Given the description of an element on the screen output the (x, y) to click on. 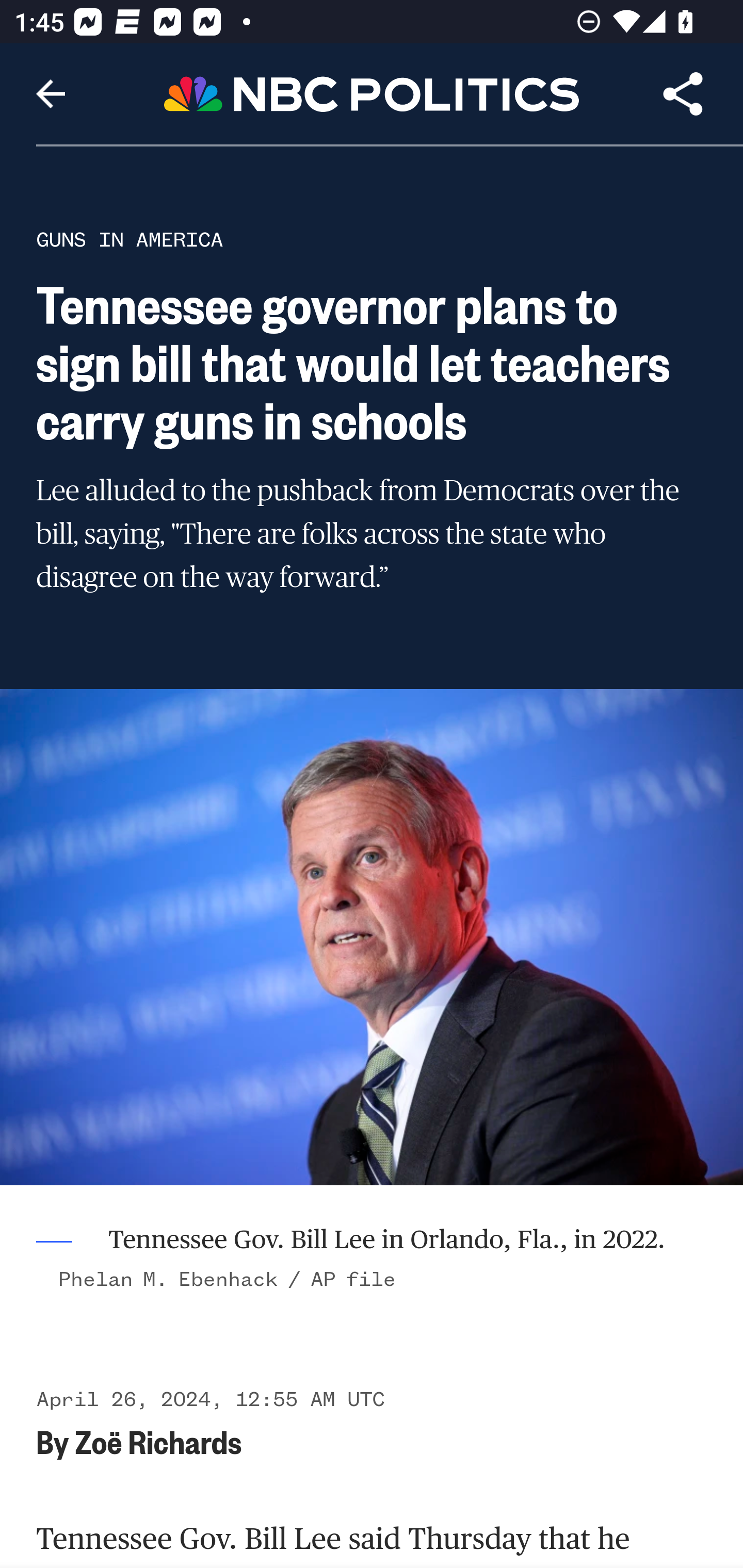
Navigate up (50, 93)
Share Article, button (683, 94)
Header, NBC Politics (371, 93)
